Given the description of an element on the screen output the (x, y) to click on. 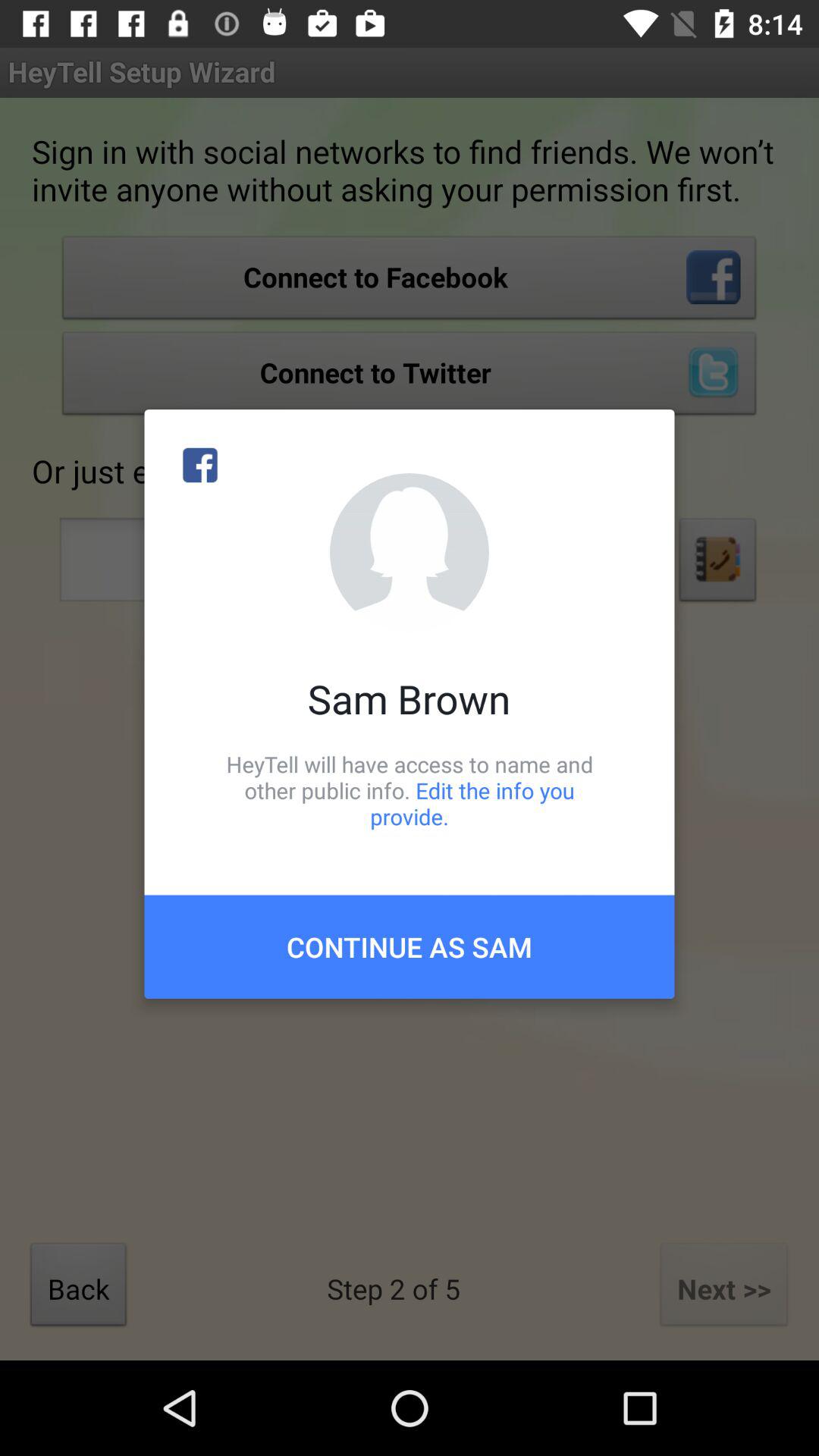
click icon below the sam brown icon (409, 790)
